Given the description of an element on the screen output the (x, y) to click on. 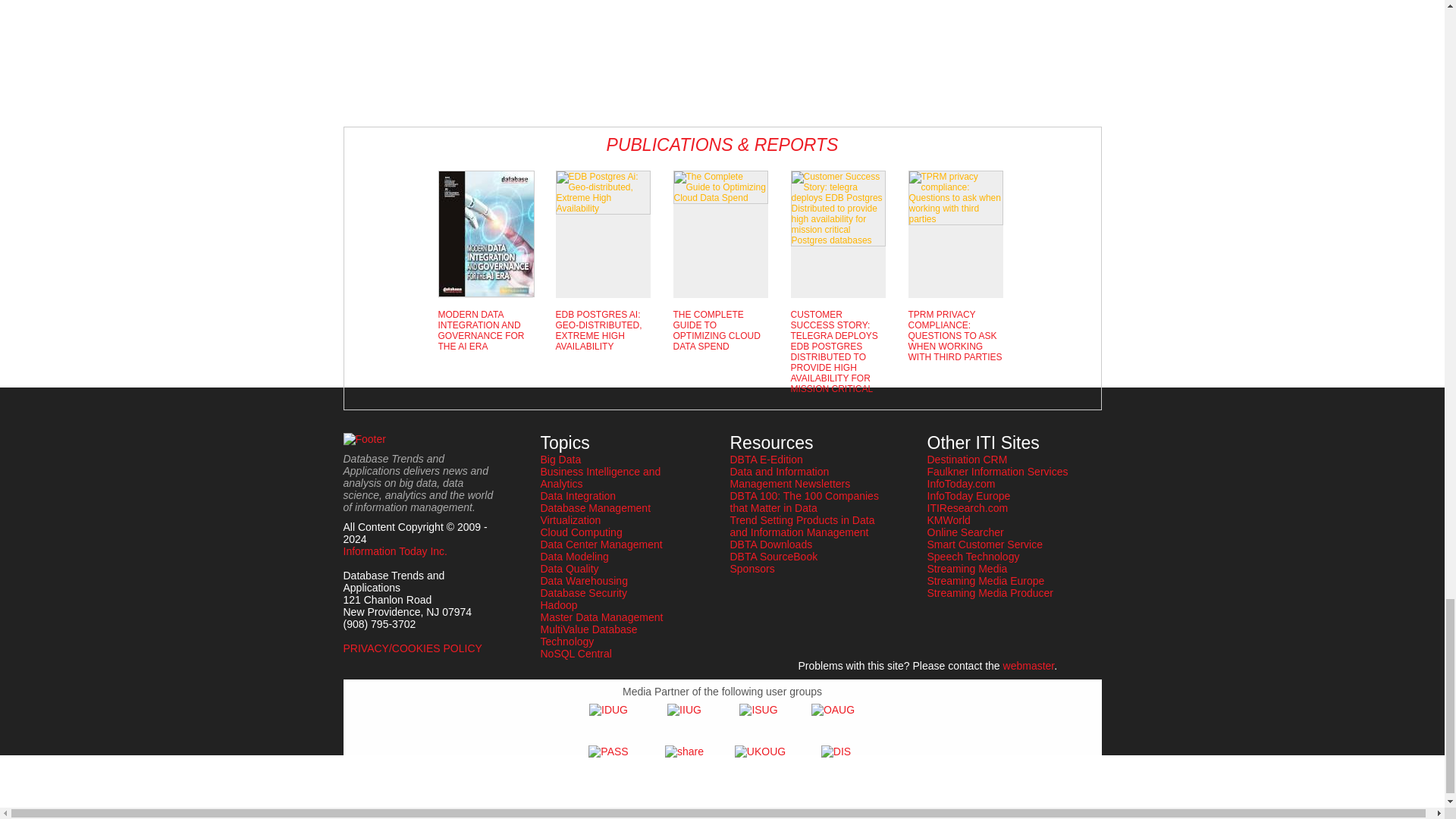
EDB Postgres Ai: Geo-distributed, Extreme High Availability (601, 192)
The Complete Guide to Optimizing Cloud Data Spend (720, 186)
